Given the description of an element on the screen output the (x, y) to click on. 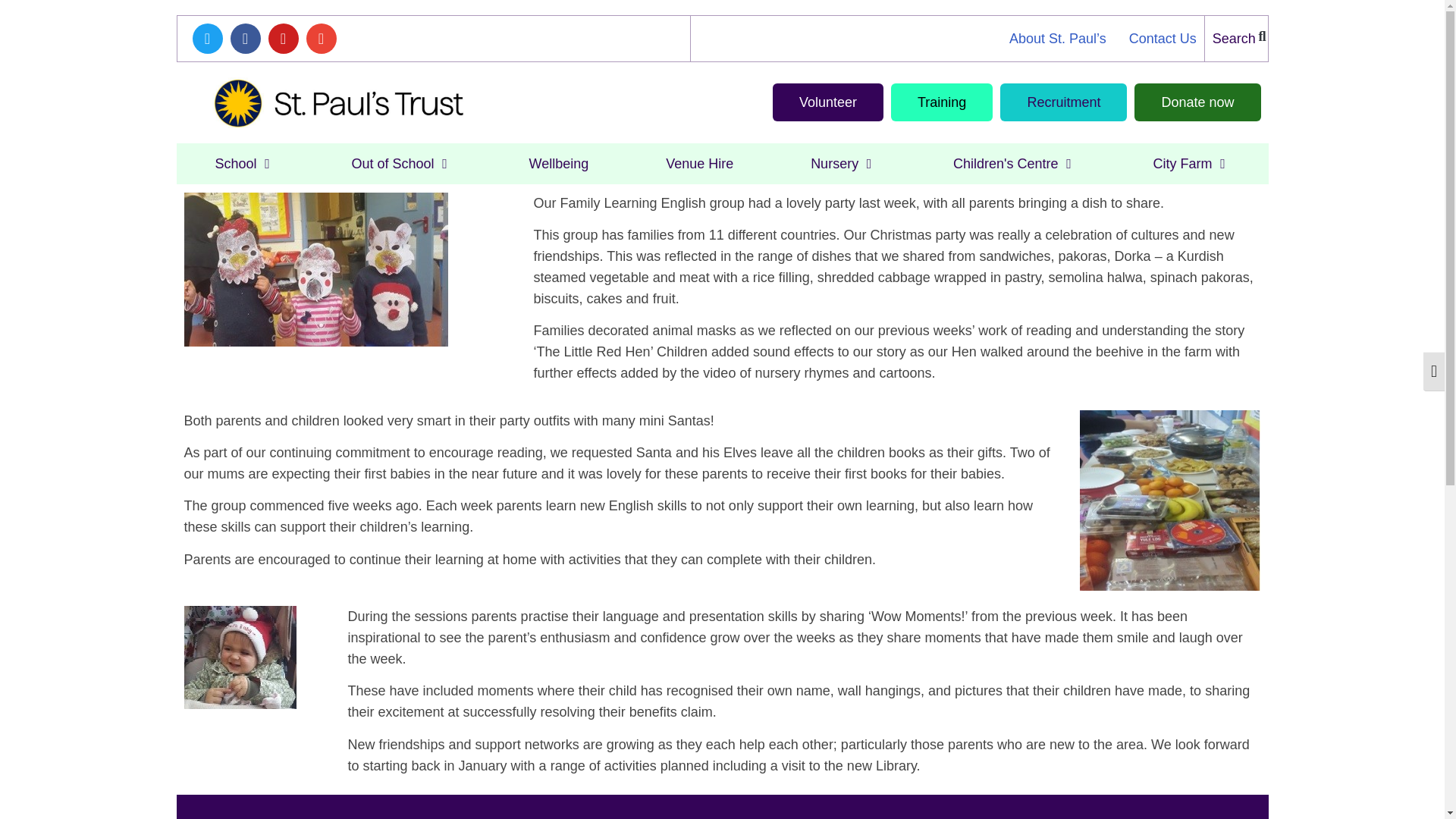
Volunteer (828, 102)
Training (941, 102)
Venue Hire (699, 163)
